Given the description of an element on the screen output the (x, y) to click on. 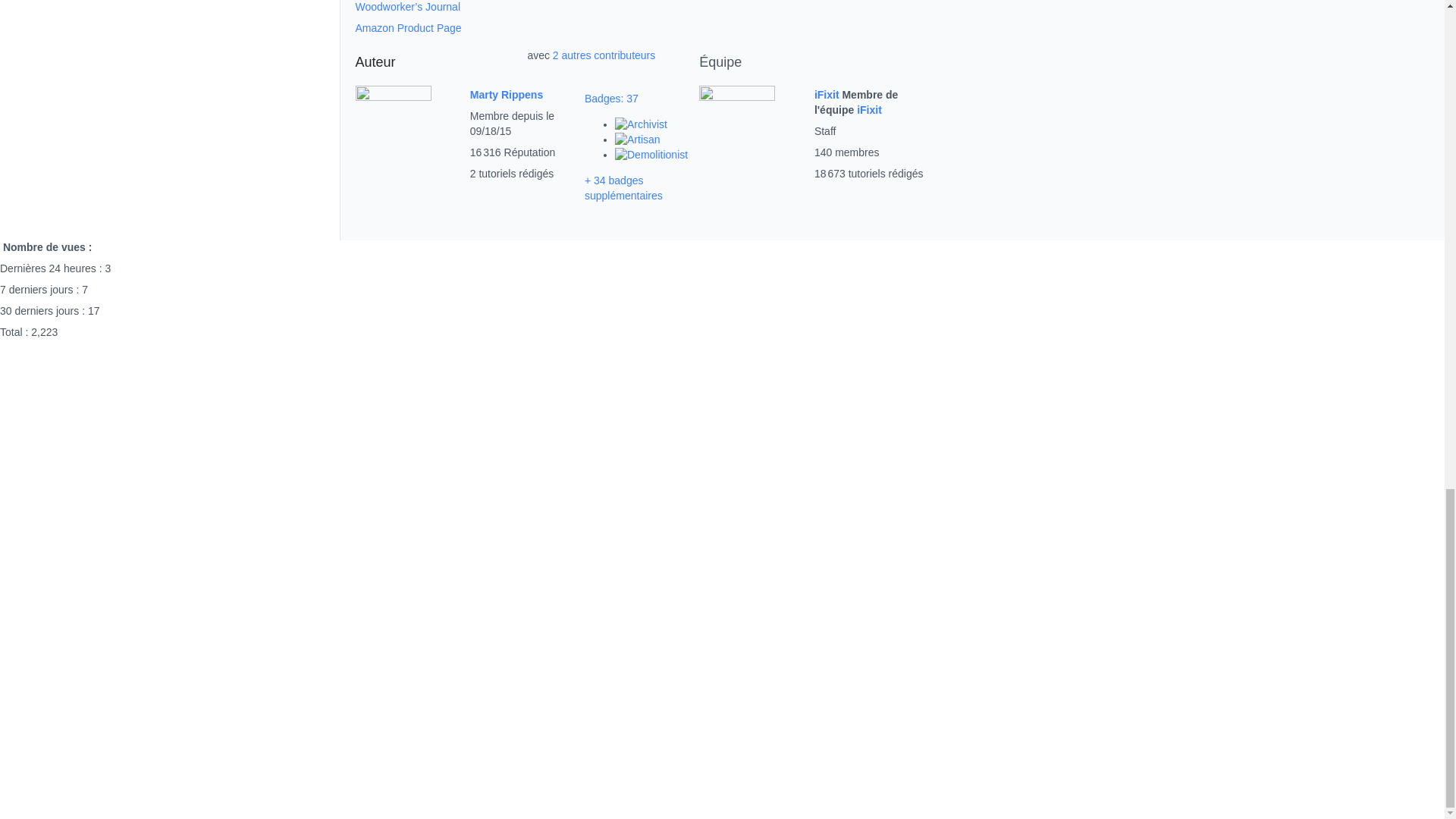
Amazon Product Page (408, 28)
Marty Rippens (506, 94)
2 autres contributeurs (604, 55)
Badges: 37 (612, 98)
Auteur (374, 61)
